Given the description of an element on the screen output the (x, y) to click on. 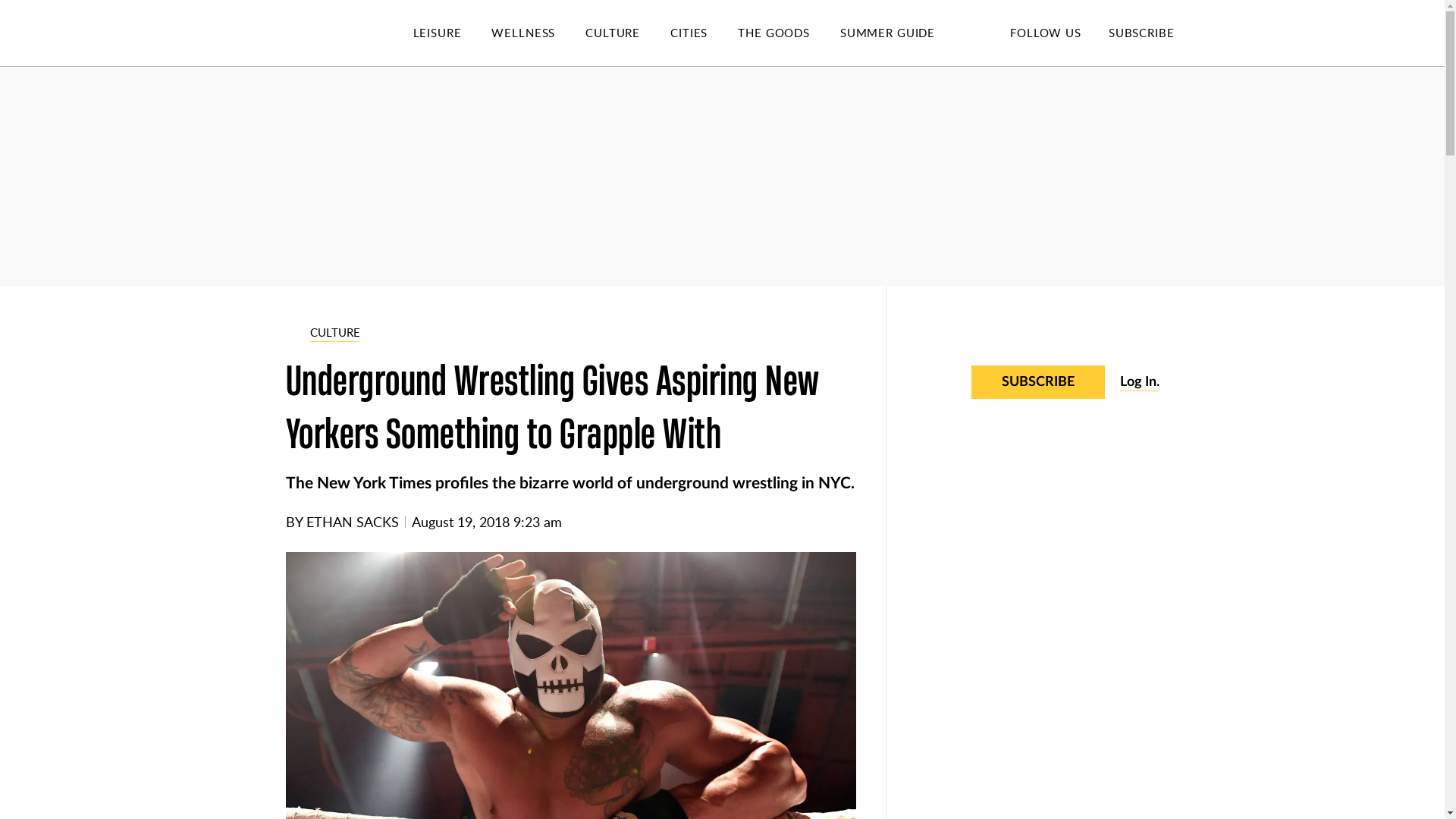
SUMMER GUIDE (902, 32)
CULTURE (627, 32)
WELLNESS (538, 32)
SUBSCRIBE (1141, 31)
FOLLOW US (1045, 32)
LEISURE (452, 32)
THE GOODS (789, 32)
CITIES (703, 32)
